Given the description of an element on the screen output the (x, y) to click on. 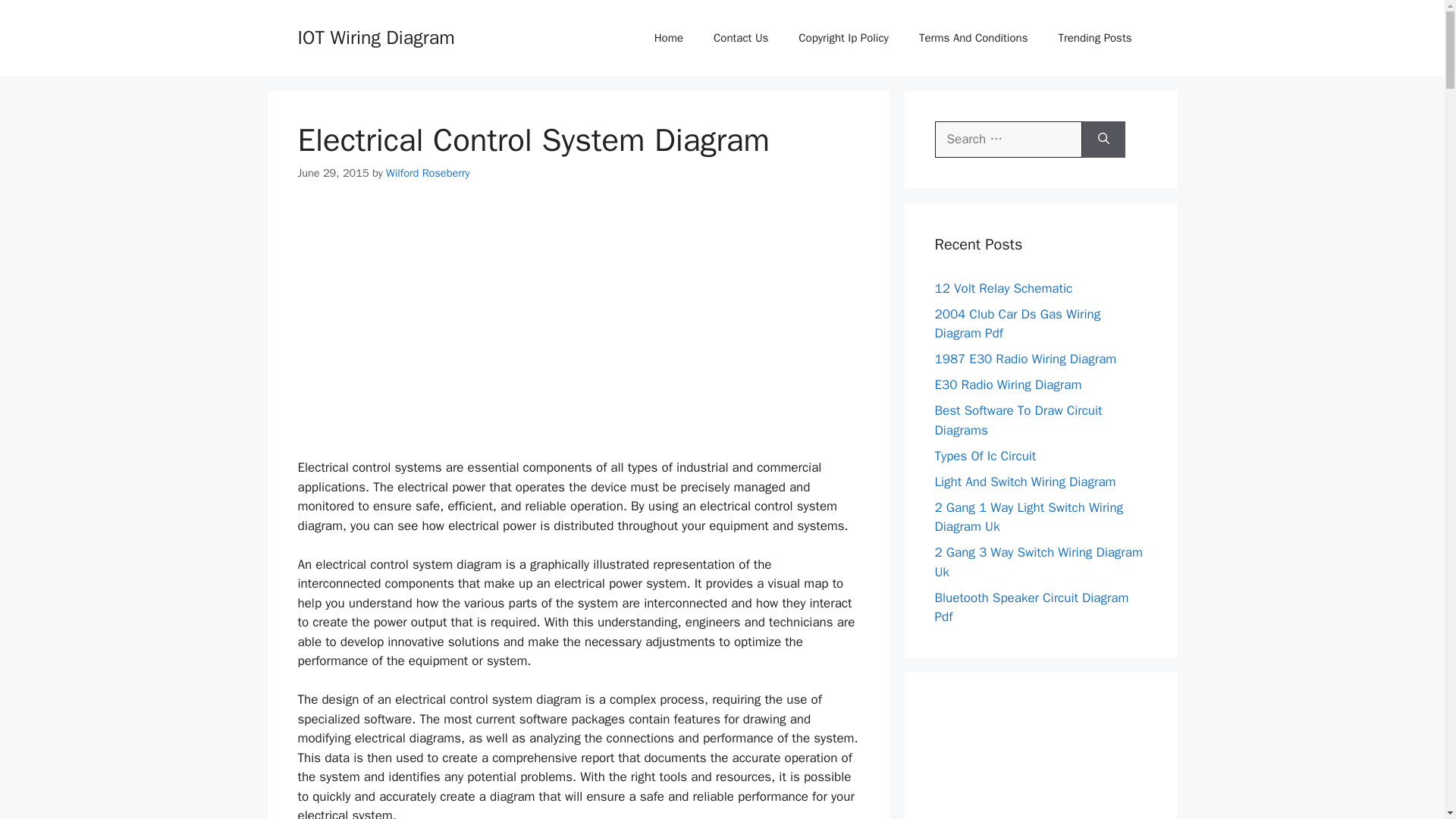
Contact Us (740, 37)
2 Gang 3 Way Switch Wiring Diagram Uk (1037, 561)
Types Of Ic Circuit (984, 455)
Bluetooth Speaker Circuit Diagram Pdf (1031, 607)
Terms And Conditions (973, 37)
Light And Switch Wiring Diagram (1024, 480)
View all posts by Wilford Roseberry (426, 172)
Home (668, 37)
12 Volt Relay Schematic (1002, 288)
Advertisement (578, 313)
Best Software To Draw Circuit Diagrams (1018, 420)
1987 E30 Radio Wiring Diagram (1025, 358)
2 Gang 1 Way Light Switch Wiring Diagram Uk (1028, 516)
2004 Club Car Ds Gas Wiring Diagram Pdf (1017, 324)
IOT Wiring Diagram (375, 37)
